Given the description of an element on the screen output the (x, y) to click on. 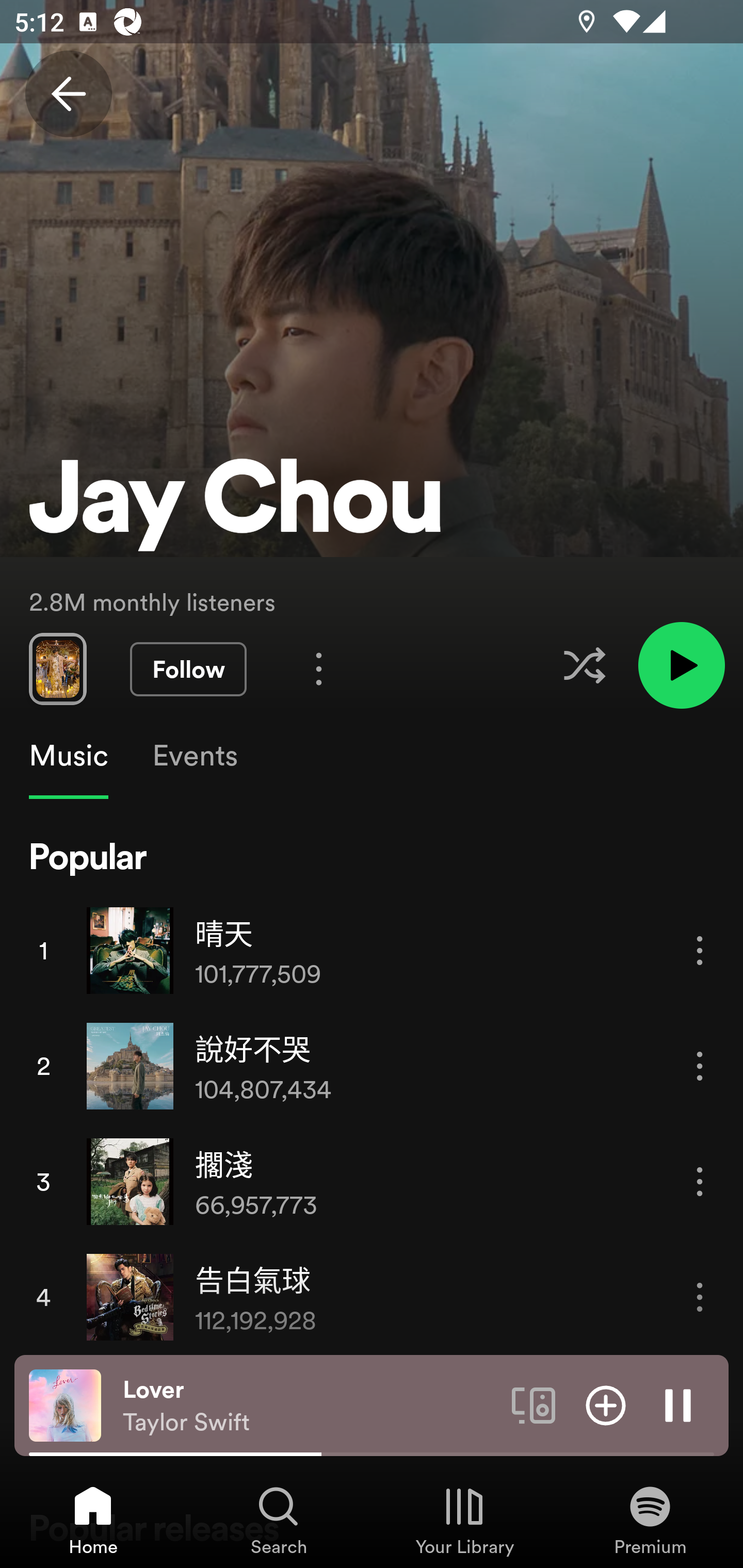
Back (68, 93)
Play artist (681, 664)
Enable shuffle for this artist (583, 665)
More options for artist Jay Chou (318, 668)
Follow (188, 669)
Events (194, 755)
1 晴天 101,777,509 More options for song 晴天 (371, 950)
More options for song 晴天 (699, 950)
2 說好不哭 104,807,434 More options for song 說好不哭 (371, 1066)
More options for song 說好不哭 (699, 1066)
3 擱淺 66,957,773 More options for song 擱淺 (371, 1181)
More options for song 擱淺 (699, 1181)
4 告白氣球 112,192,928 More options for song 告白氣球 (371, 1296)
More options for song 告白氣球 (699, 1297)
Lover Taylor Swift (309, 1405)
The cover art of the currently playing track (64, 1404)
Connect to a device. Opens the devices menu (533, 1404)
Add item (605, 1404)
Pause (677, 1404)
Home, Tab 1 of 4 Home Home (92, 1519)
Search, Tab 2 of 4 Search Search (278, 1519)
Your Library, Tab 3 of 4 Your Library Your Library (464, 1519)
Premium, Tab 4 of 4 Premium Premium (650, 1519)
